Given the description of an element on the screen output the (x, y) to click on. 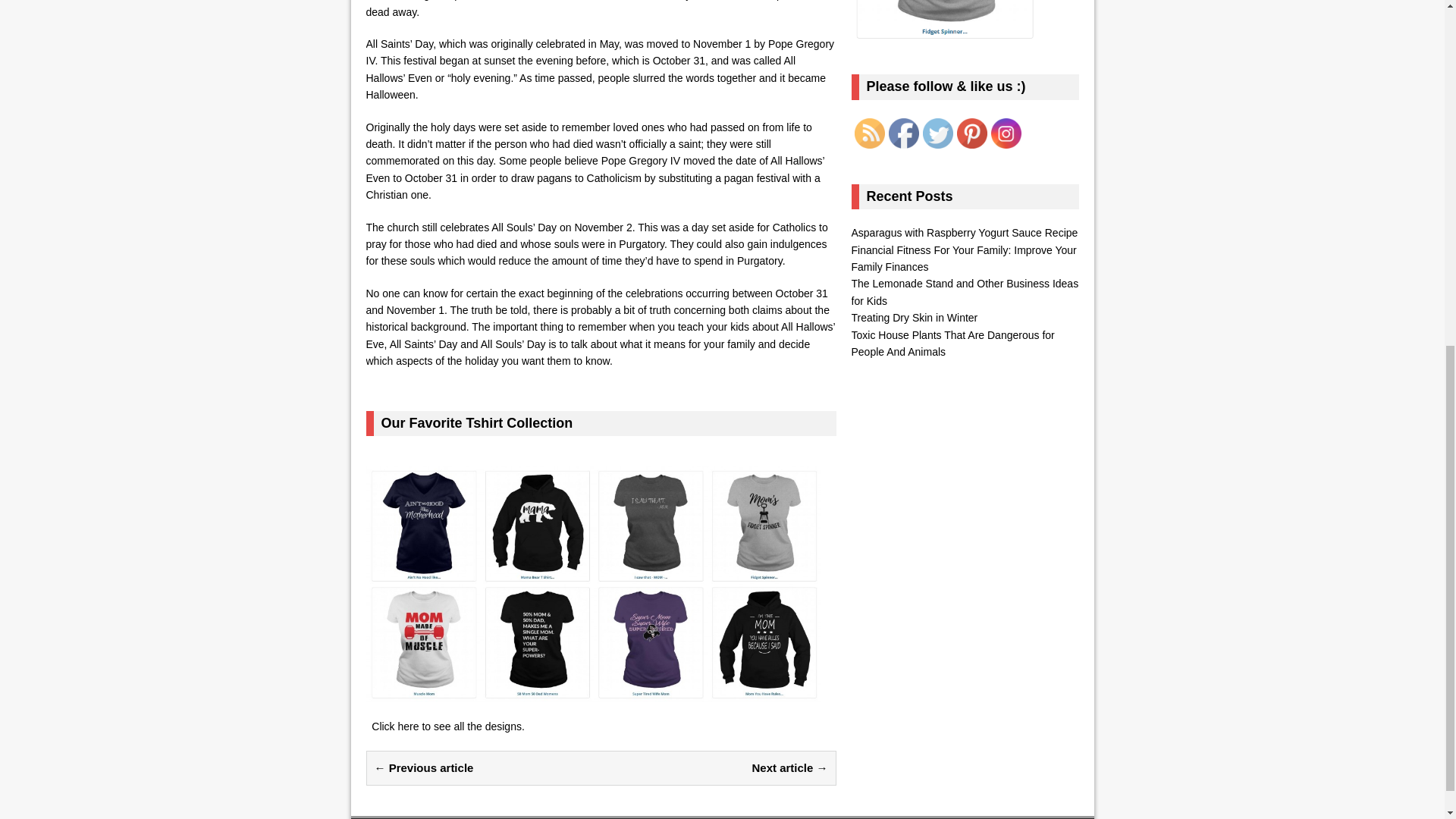
Asparagus with Raspberry Yogurt Sauce Recipe (963, 232)
Pinterest (971, 132)
Toxic House Plants That Are Dangerous for People And Animals (952, 343)
Facebook (903, 132)
The Lemonade Stand and Other Business Ideas for Kids (964, 291)
Treating Dry Skin in Winter (913, 317)
Twitter (936, 132)
Instagram (1005, 132)
Click here to see all the designs (446, 726)
RSS (868, 132)
